Given the description of an element on the screen output the (x, y) to click on. 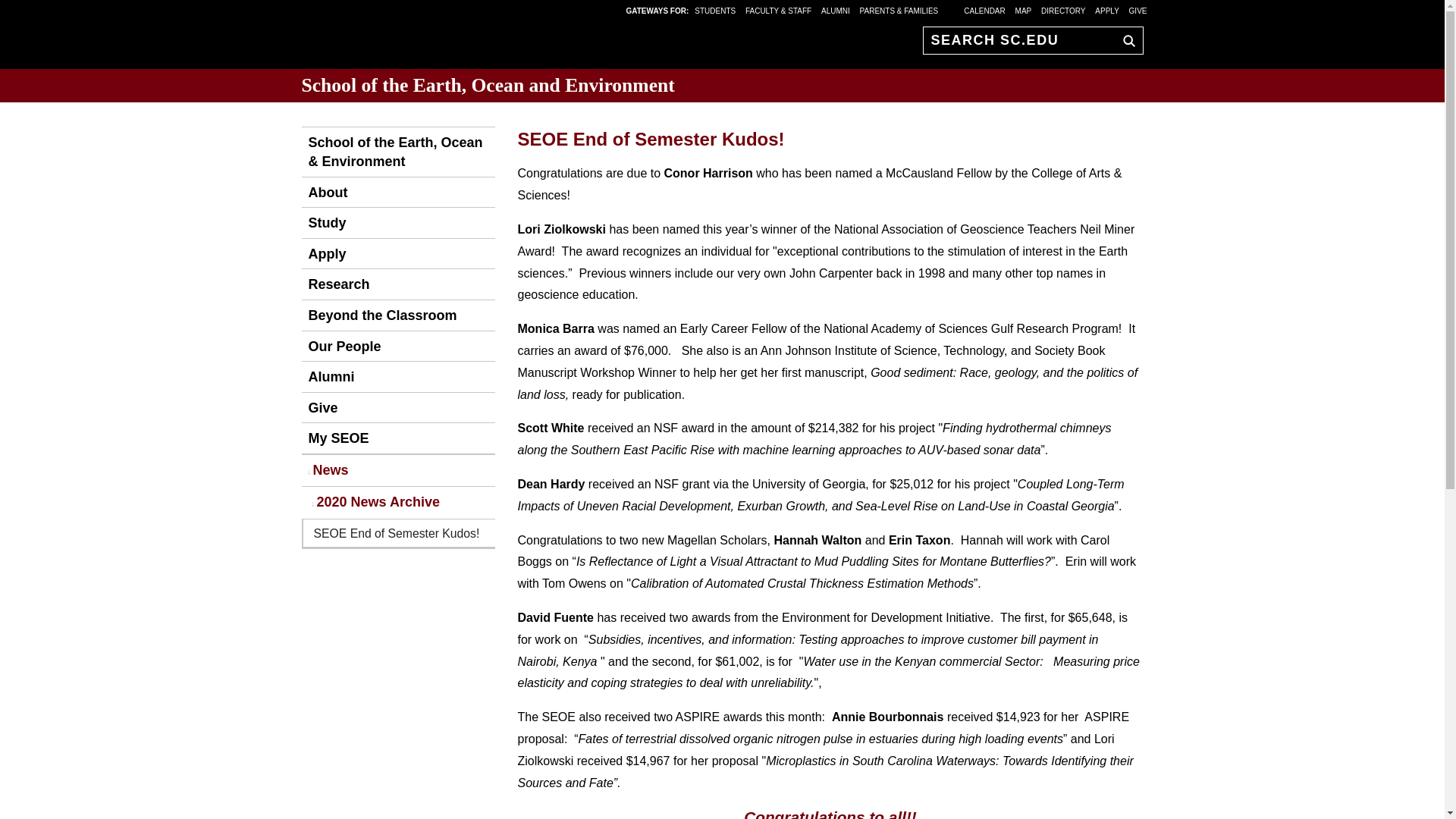
CALENDAR (983, 9)
GO (1125, 40)
ALUMNI (835, 9)
University of South Carolina Home (396, 38)
APPLY (1106, 9)
GO (1125, 40)
STUDENTS (716, 9)
The School of the Earth, Ocean and Environment (398, 151)
DIRECTORY (1063, 9)
GIVE (1138, 9)
